Given the description of an element on the screen output the (x, y) to click on. 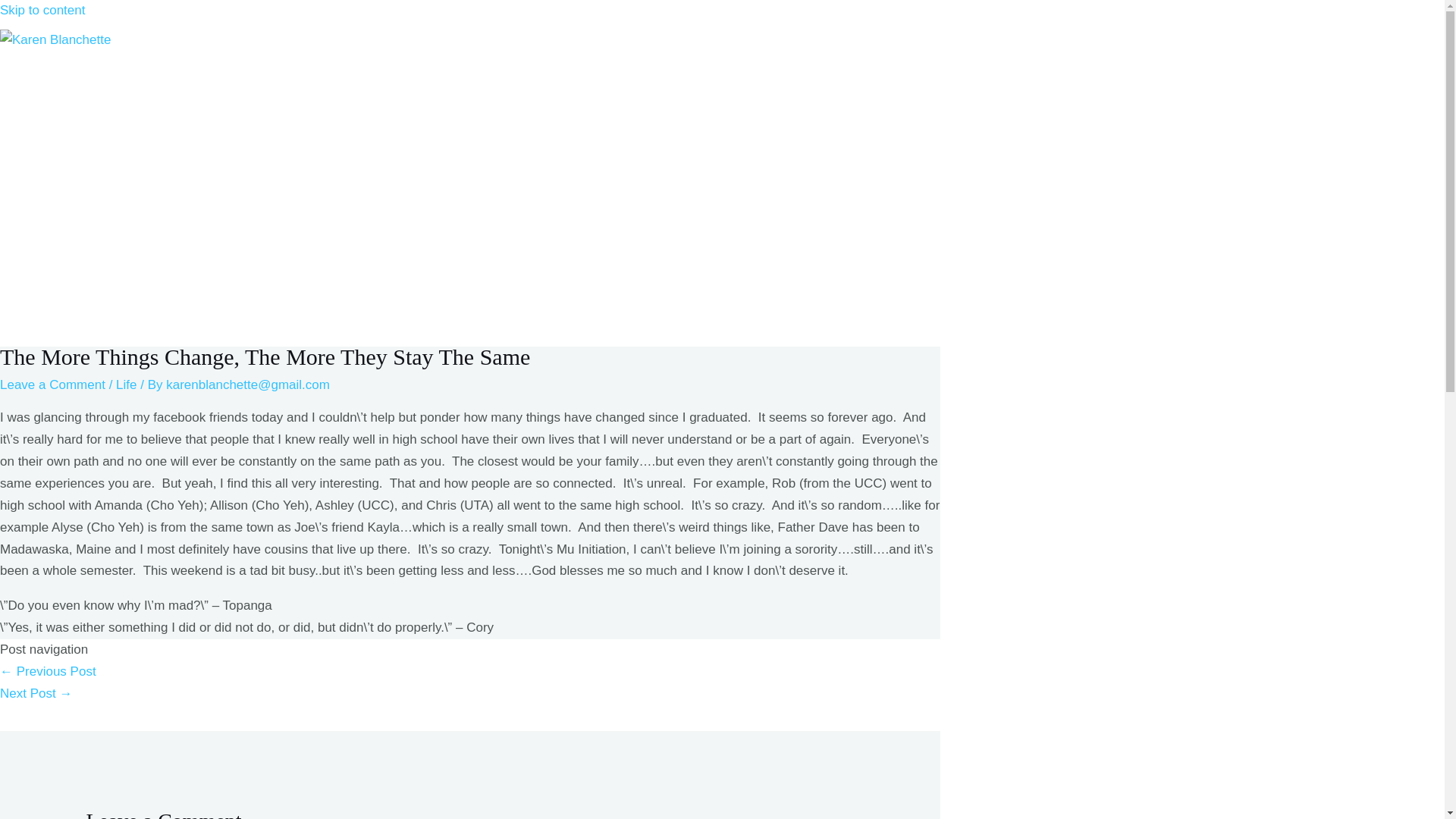
PERSONAL BLOG (99, 276)
HOME (99, 94)
Leave a Comment (52, 384)
CONTACT (99, 215)
Life (126, 384)
ABOUT (99, 155)
Skip to content (42, 10)
Skip to content (42, 10)
